Given the description of an element on the screen output the (x, y) to click on. 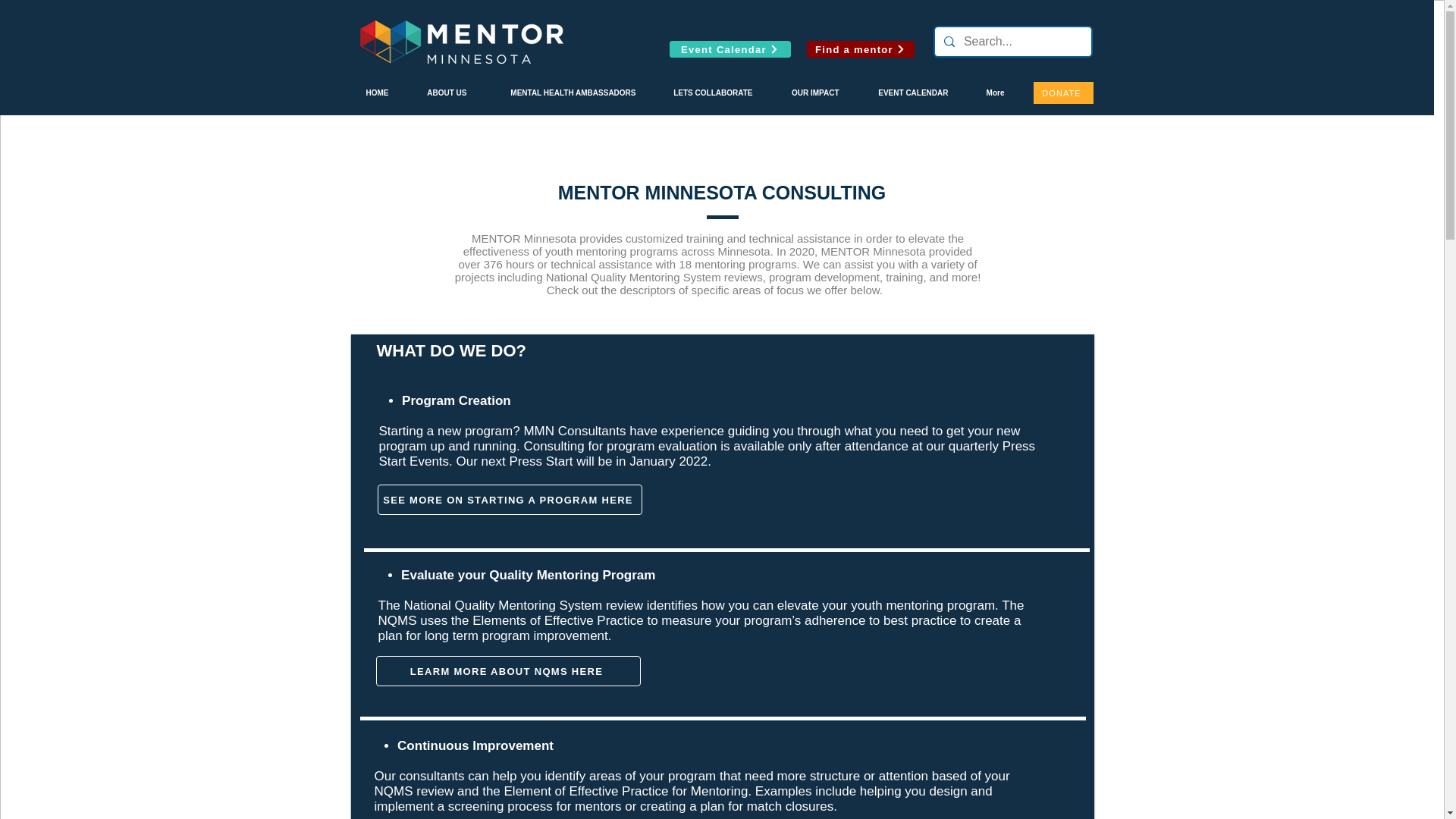
Find a mentor (860, 48)
LEARM MORE ABOUT NQMS HERE (507, 671)
EVENT CALENDAR (904, 92)
DONATE (1062, 92)
Event Calendar (729, 48)
SEE MORE ON STARTING A PROGRAM HERE (509, 499)
MENTAL HEALTH AMBASSADORS (561, 92)
HOME (367, 92)
